Given the description of an element on the screen output the (x, y) to click on. 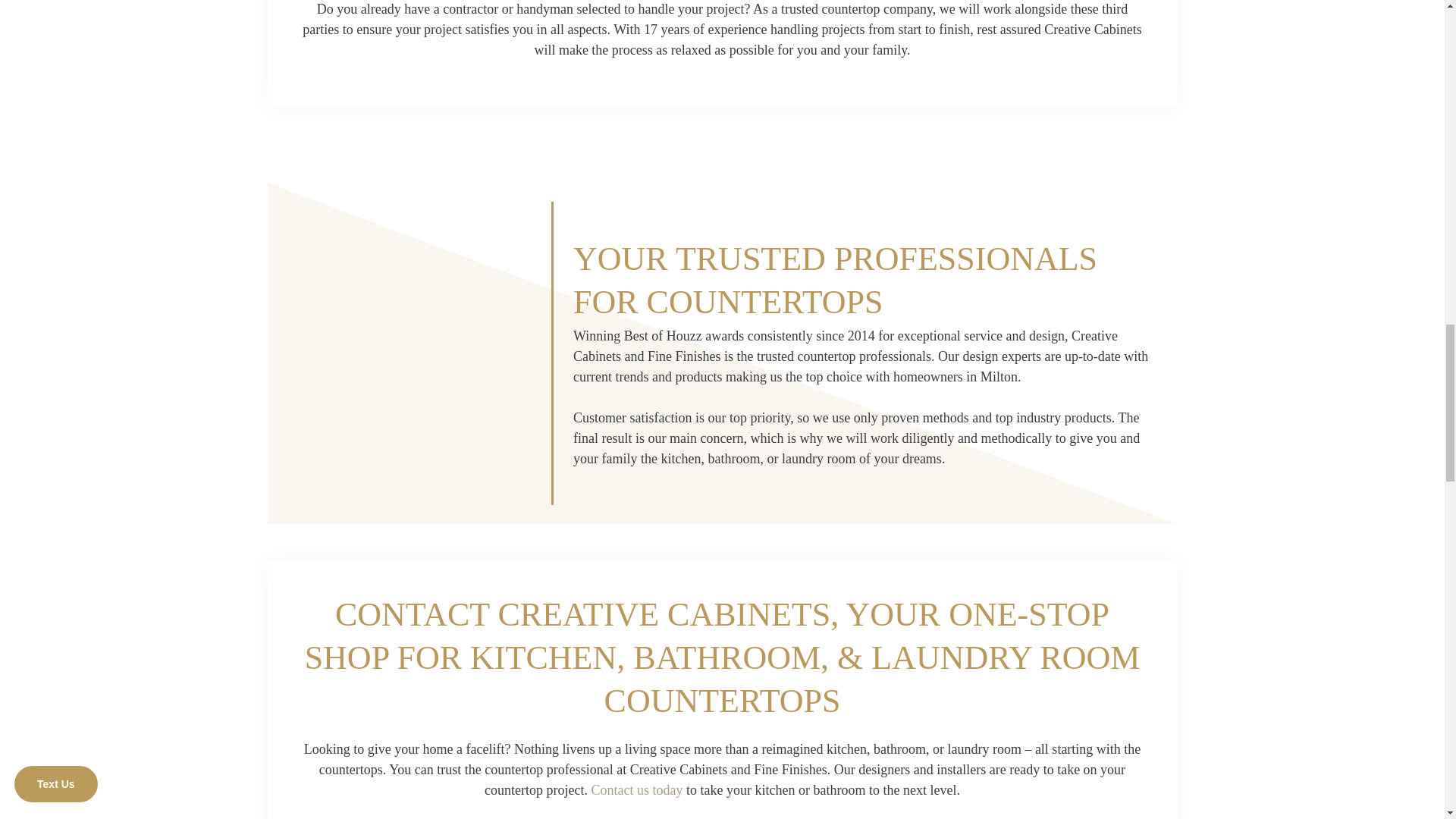
Contact us today (636, 789)
